Given the description of an element on the screen output the (x, y) to click on. 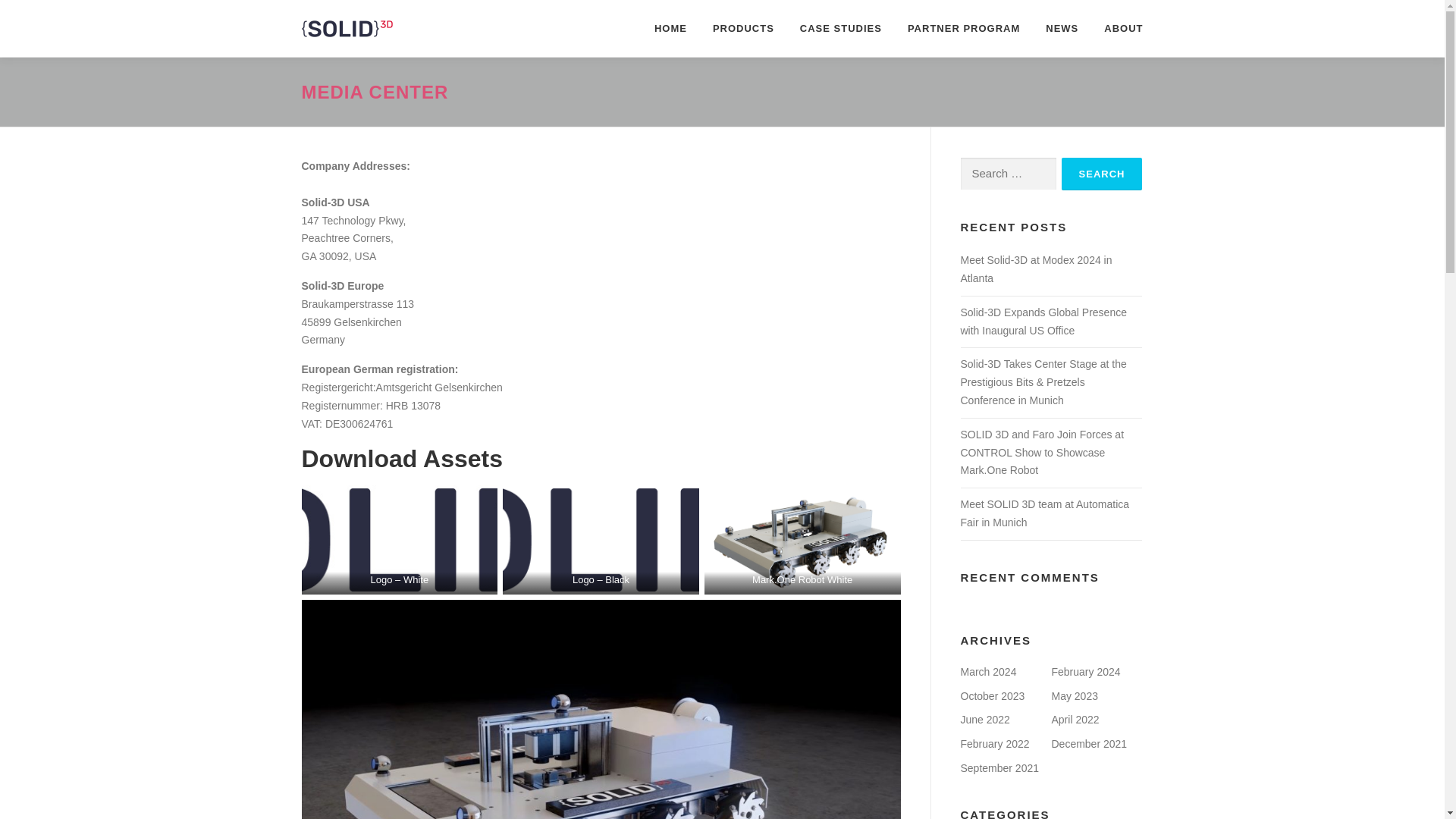
October 2023 (992, 695)
June 2022 (984, 719)
Solid-3D Expands Global Presence with Inaugural US Office (1042, 321)
December 2021 (1088, 743)
September 2021 (999, 767)
ABOUT (1116, 28)
February 2022 (994, 743)
Search (1101, 174)
Search (1101, 174)
NEWS (1061, 28)
